Given the description of an element on the screen output the (x, y) to click on. 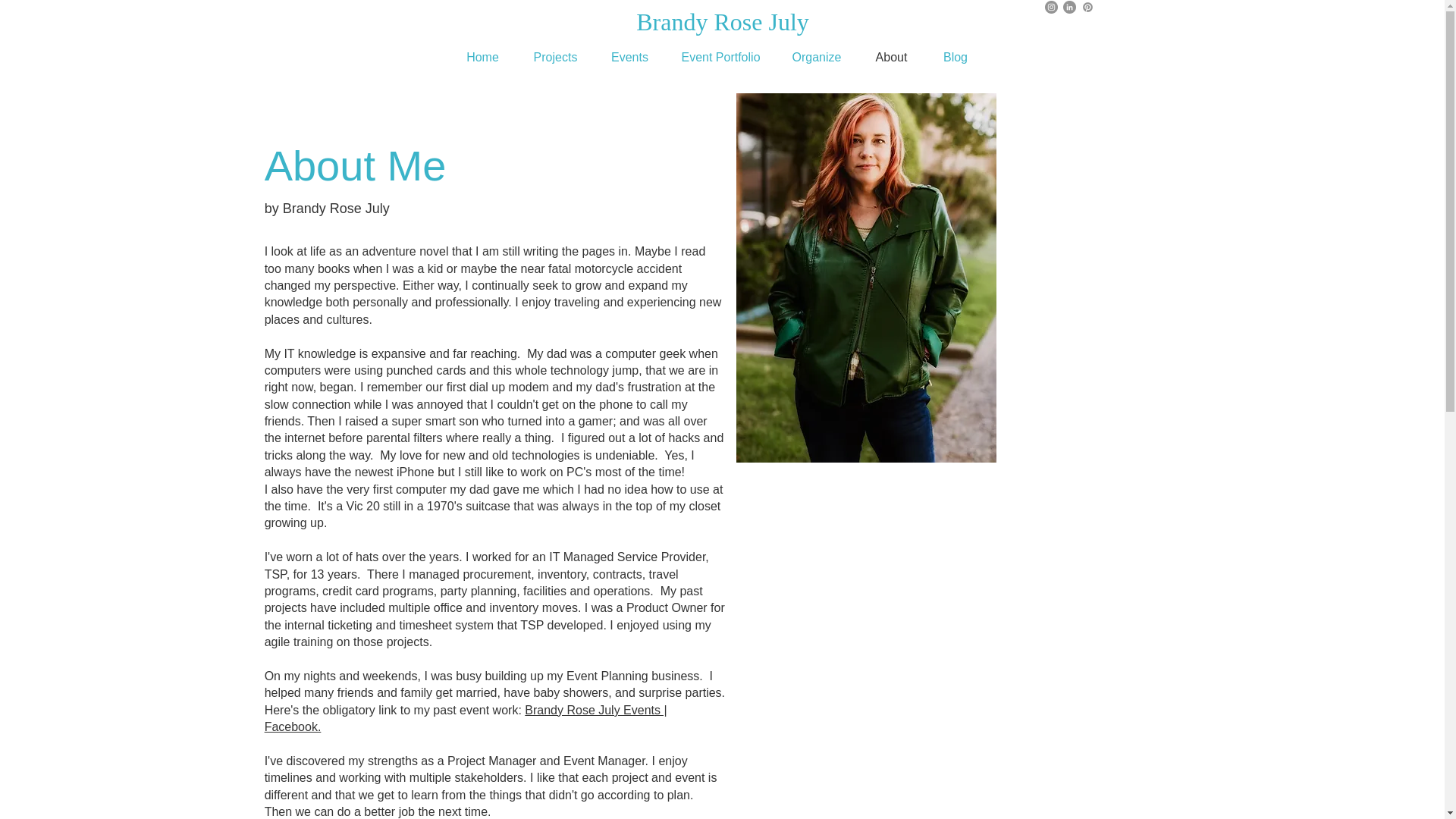
Blog (954, 57)
Events (629, 57)
Brandy Rose July (722, 22)
About (890, 57)
Home (482, 57)
Organize (816, 57)
Event Portfolio (720, 57)
Projects (555, 57)
